Given the description of an element on the screen output the (x, y) to click on. 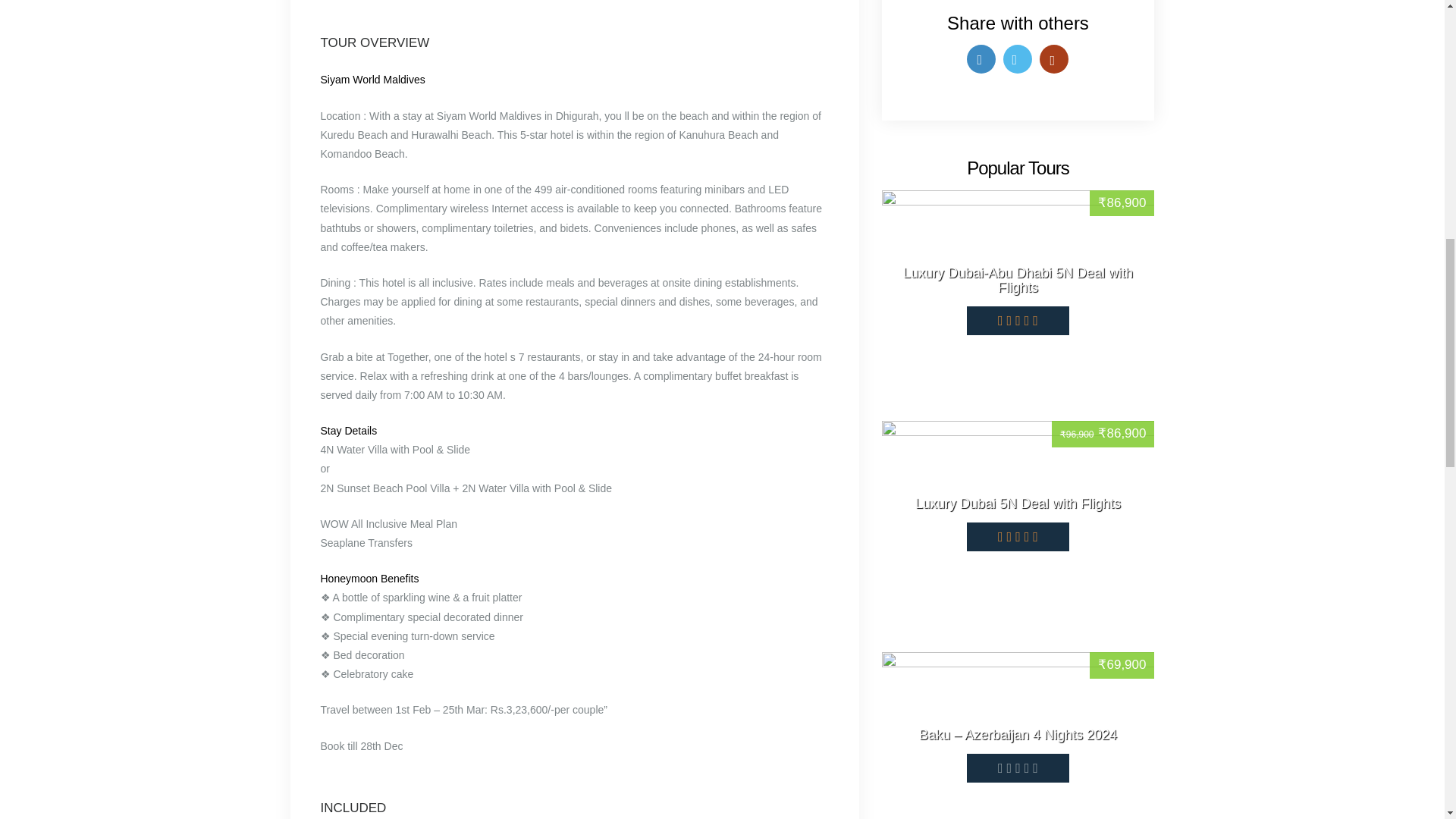
Share on Facebook! (980, 59)
Pin this! (1053, 59)
Tweet this! (1017, 59)
